Given the description of an element on the screen output the (x, y) to click on. 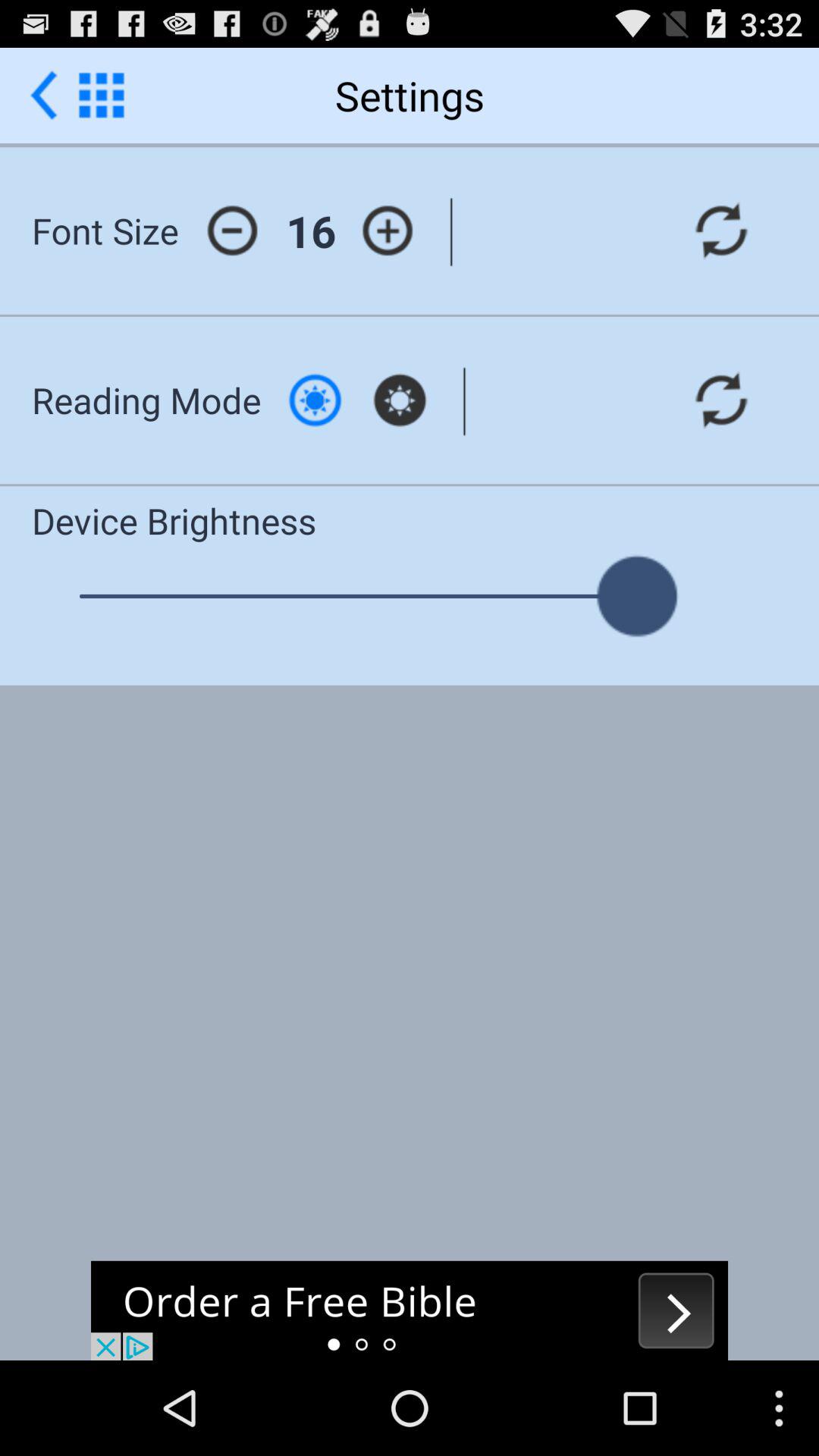
reduce font size option (232, 230)
